Given the description of an element on the screen output the (x, y) to click on. 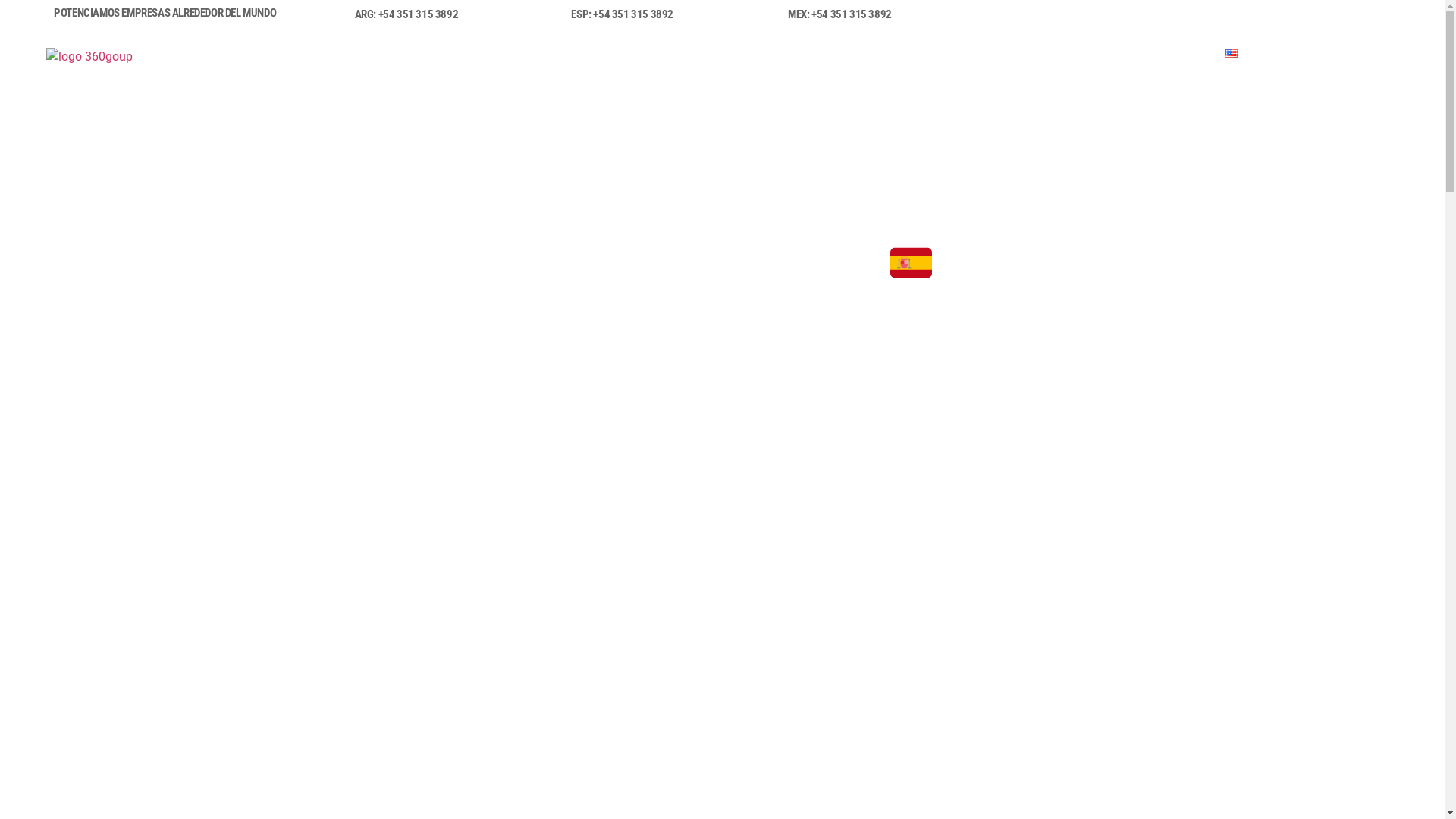
News Element type: text (1060, 53)
Servicios Element type: text (778, 53)
360goup-logo Element type: hover (89, 56)
ESP: +54 351 315 3892 Element type: text (622, 14)
Portfolio Element type: text (867, 53)
ARG: +54 351 315 3892 Element type: text (406, 14)
Inicio Element type: text (707, 53)
MEX: +54 351 315 3892 Element type: text (839, 14)
